Given the description of an element on the screen output the (x, y) to click on. 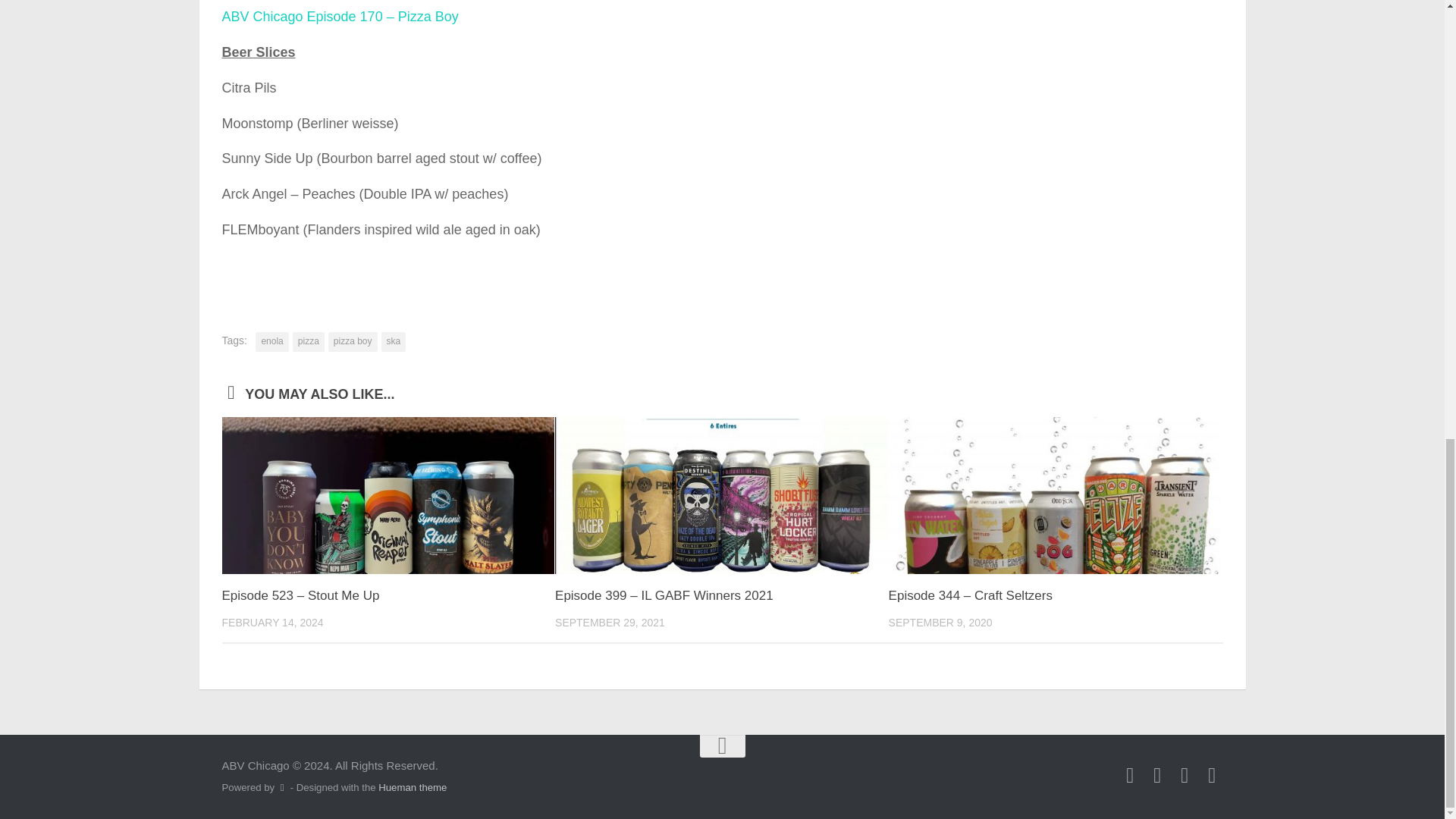
Pictures!!! (1212, 775)
Hueman theme (412, 787)
enola (272, 342)
Facebook (1157, 775)
Donate! (1184, 775)
Tweet! (1129, 775)
pizza (308, 342)
ska (393, 342)
Hueman theme (412, 787)
pizza boy (353, 342)
Powered by WordPress (282, 787)
